Given the description of an element on the screen output the (x, y) to click on. 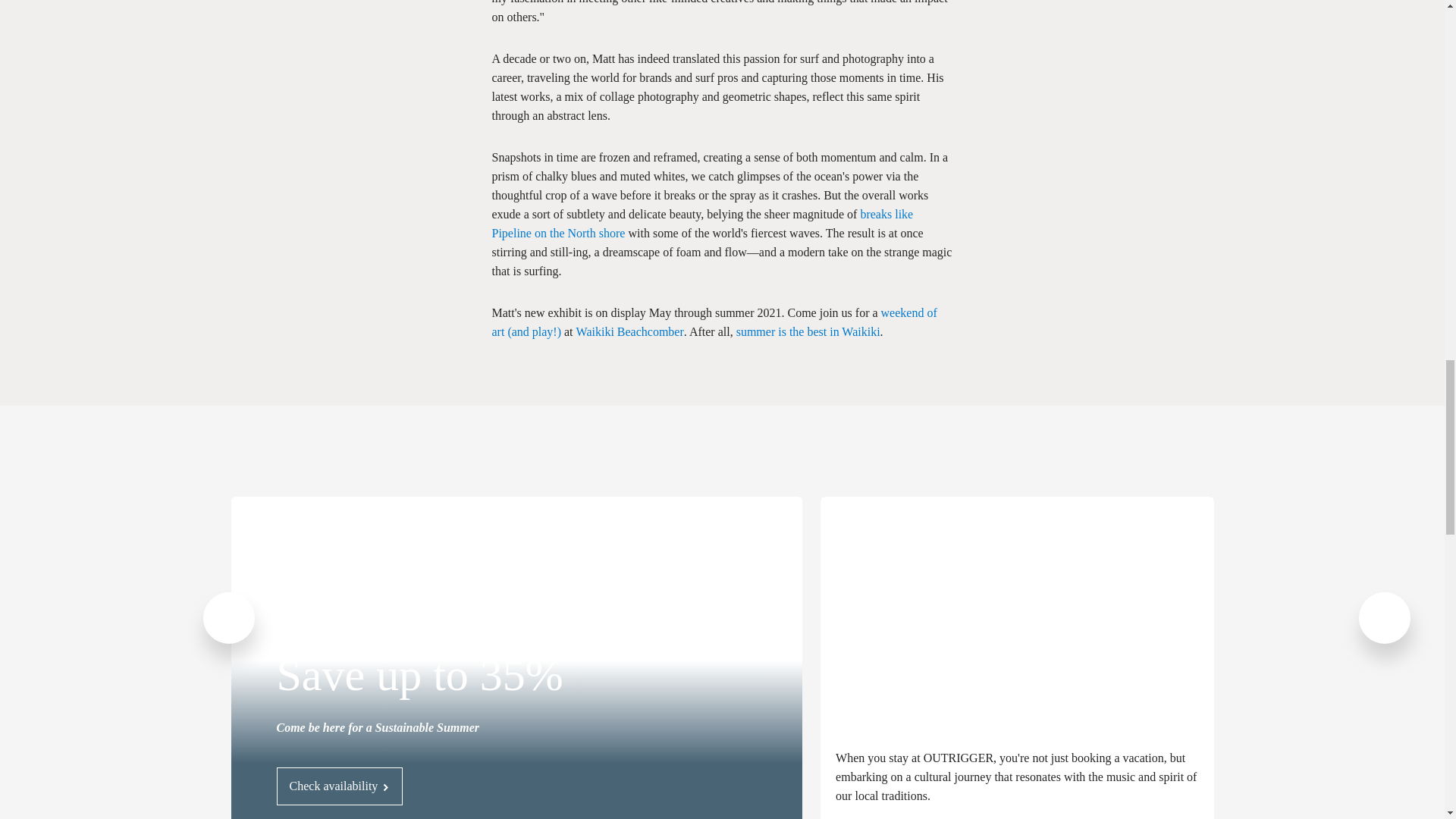
breaks like Pipeline on the North shore (702, 223)
Check availability (339, 786)
Waikiki Beachcomber (630, 331)
summer is the best in Waikiki (808, 331)
